Given the description of an element on the screen output the (x, y) to click on. 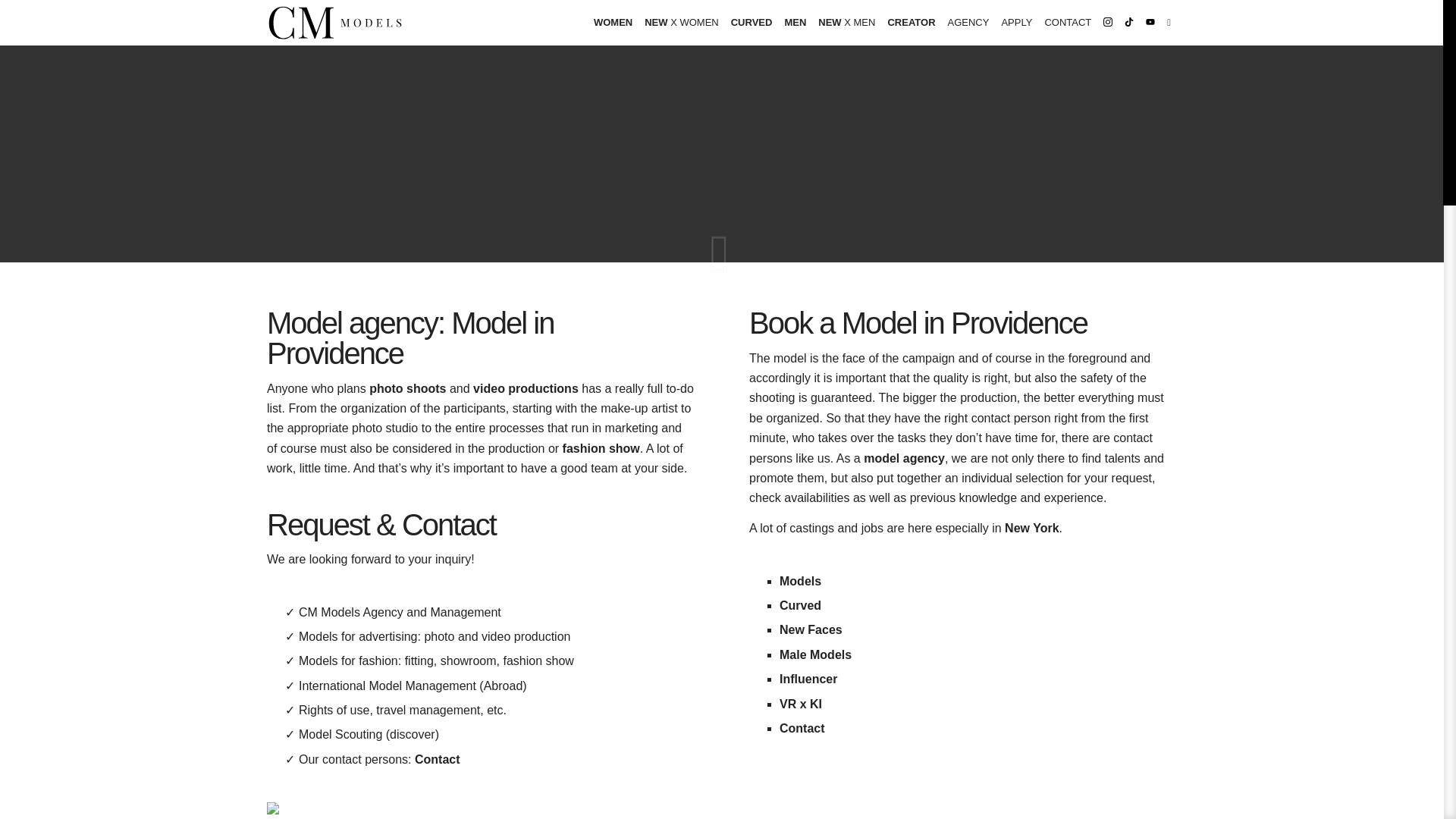
CREATOR (910, 22)
AGENCY (968, 22)
NEW X WOMEN (682, 22)
NEW X MEN (846, 22)
Modelagentur Kontakt (1067, 22)
CURVED (751, 22)
WOMEN (613, 22)
